Given the description of an element on the screen output the (x, y) to click on. 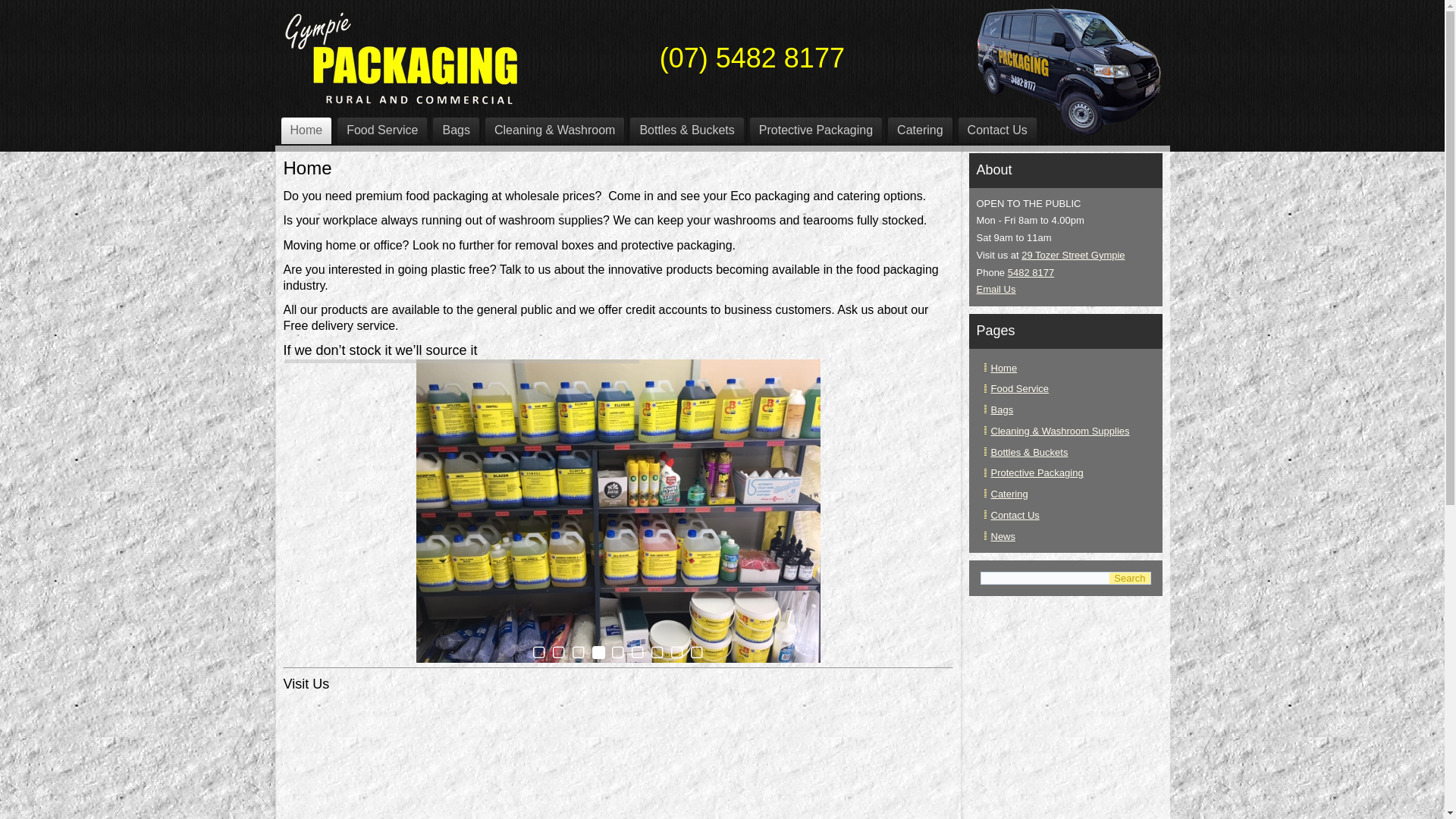
Email Us Element type: text (996, 288)
Contact Us Element type: text (997, 130)
Catering Element type: text (1008, 493)
Home Element type: text (305, 130)
29 Tozer Street Gympie Element type: text (1072, 254)
Protective Packaging Element type: text (1036, 472)
Cleaning & Washroom Element type: text (554, 130)
Bottles & Buckets Element type: text (686, 130)
Search Element type: text (1129, 577)
Bags Element type: text (1001, 409)
Catering Element type: text (919, 130)
Contact Us Element type: text (1014, 514)
Food Service Element type: text (1019, 388)
Food Service Element type: text (381, 130)
Protective Packaging Element type: text (815, 130)
Cleaning & Washroom Supplies Element type: text (1059, 430)
Bags Element type: text (455, 130)
5482 8177 Element type: text (1030, 272)
Bottles & Buckets Element type: text (1028, 452)
News Element type: text (1002, 536)
Home Element type: text (1003, 367)
(07) 5482 8177 Element type: text (751, 57)
